Given the description of an element on the screen output the (x, y) to click on. 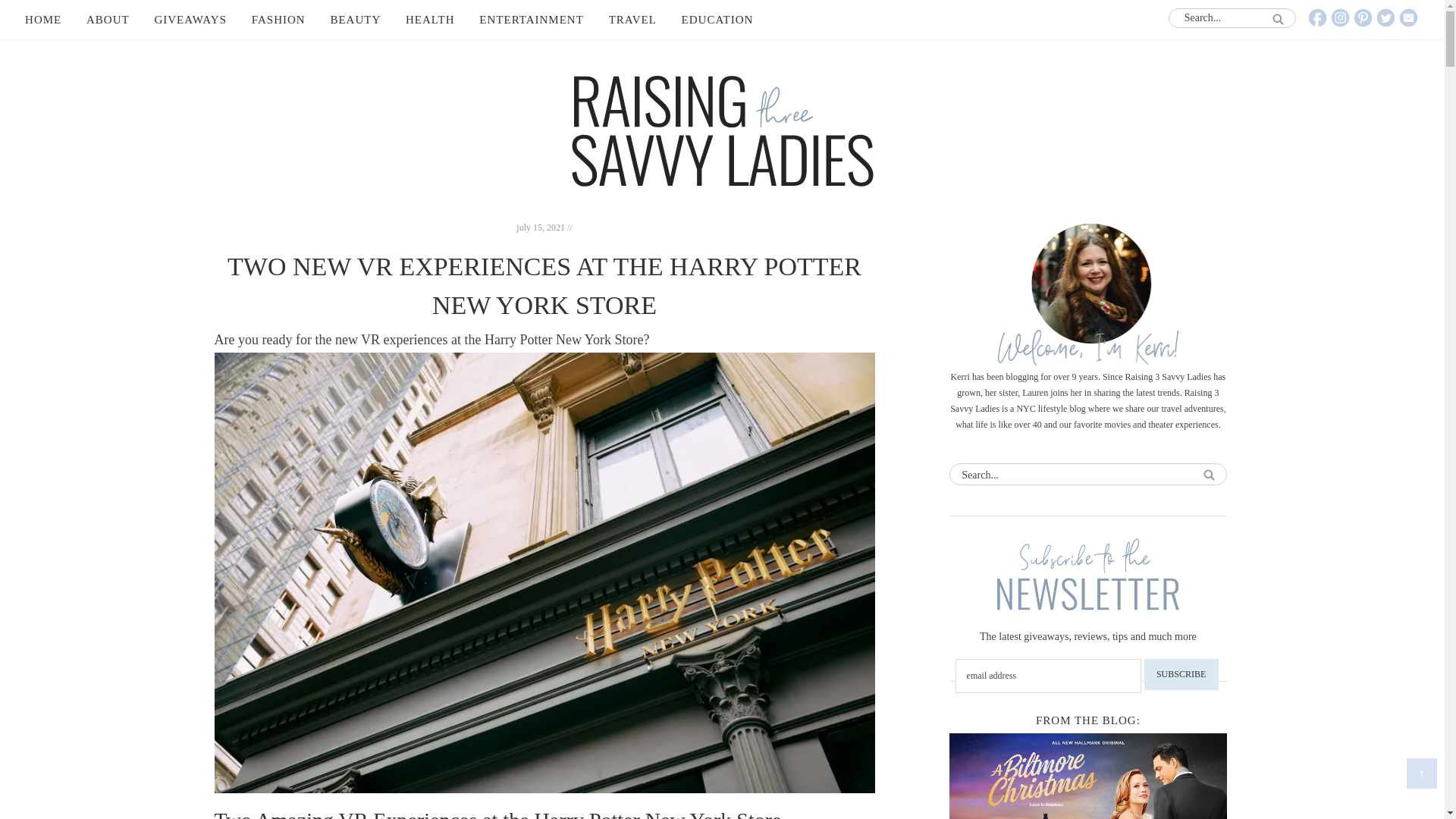
TRAVEL (632, 19)
HEALTH (429, 19)
Subscribe (1181, 674)
GIVEAWAYS (189, 19)
FASHION (278, 19)
RAISING THREE SAVVY LADIES (722, 131)
ABOUT (107, 19)
BEAUTY (354, 19)
EDUCATION (717, 19)
ENTERTAINMENT (531, 19)
HOME (42, 19)
